Given the description of an element on the screen output the (x, y) to click on. 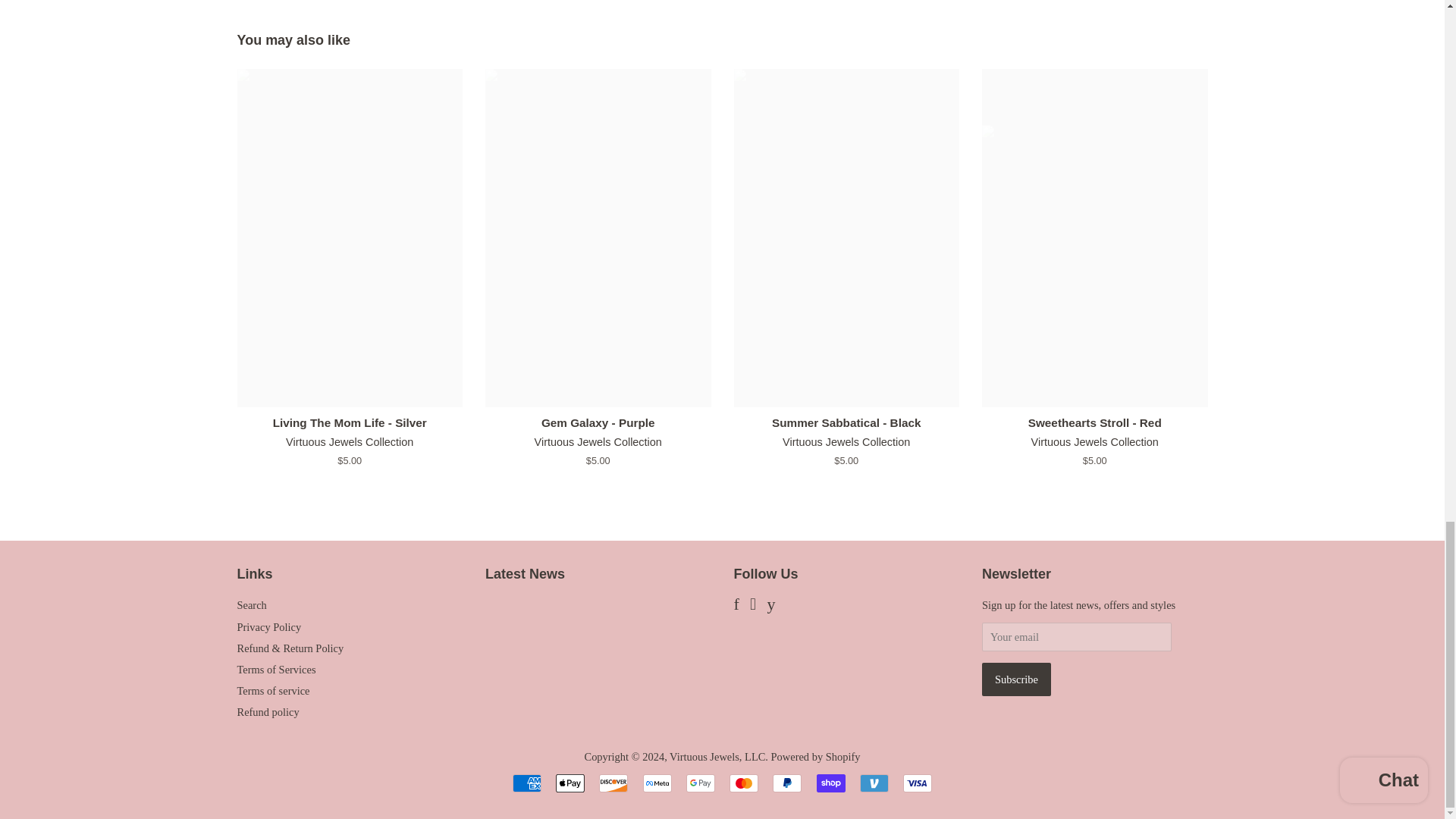
Visa (916, 782)
Subscribe (1016, 679)
Meta Pay (657, 782)
Shop Pay (830, 782)
Venmo (874, 782)
PayPal (787, 782)
Discover (612, 782)
Mastercard (743, 782)
Google Pay (699, 782)
Apple Pay (570, 782)
